Given the description of an element on the screen output the (x, y) to click on. 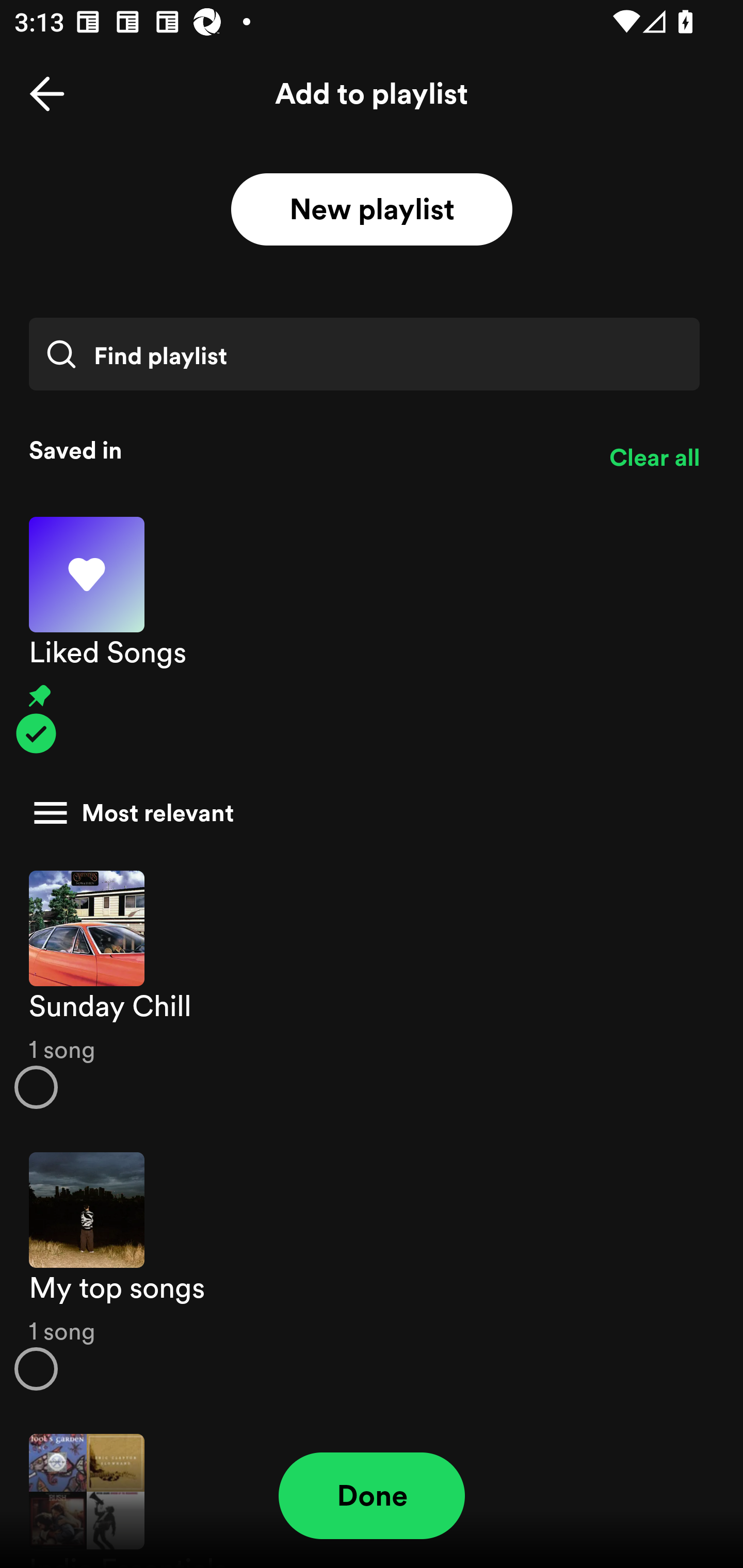
Back (46, 93)
New playlist (371, 210)
Find playlist (363, 354)
Saved in (304, 449)
Clear all (654, 457)
Liked Songs Pinned (371, 635)
Most relevant (363, 812)
Sunday Chill 1 song (371, 989)
My top songs 1 song (371, 1271)
Indie Essentials (371, 1490)
Done (371, 1495)
